Given the description of an element on the screen output the (x, y) to click on. 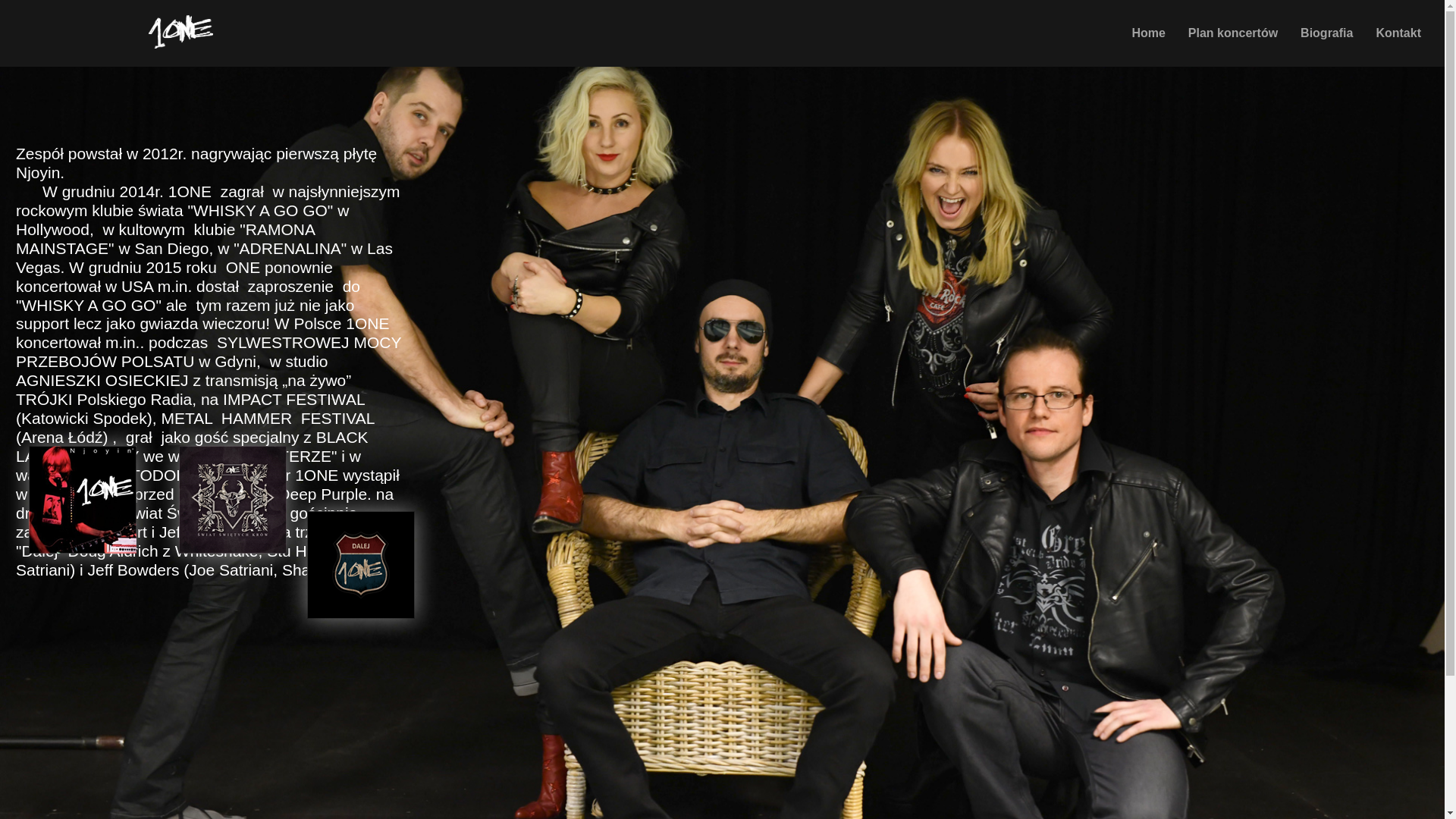
Biografia Element type: text (1326, 32)
Home Element type: text (1148, 32)
Kontakt Element type: text (1398, 32)
